Given the description of an element on the screen output the (x, y) to click on. 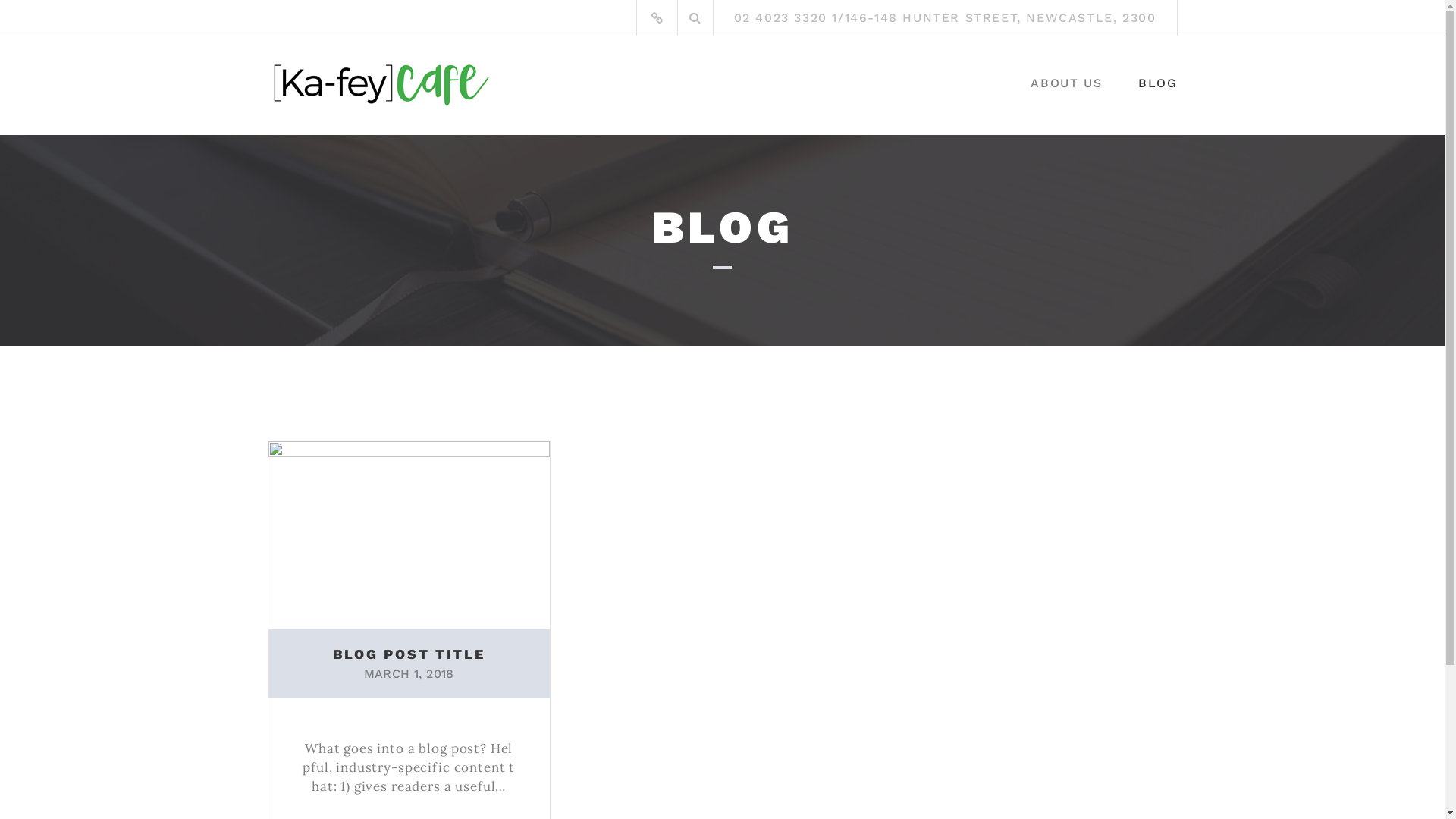
Home Element type: text (657, 18)
BLOG POST TITLE Element type: text (408, 654)
MARCH 1, 2018 Element type: text (409, 673)
Blog Post Title Element type: hover (408, 533)
BLOG Element type: text (1157, 87)
ABOUT US Element type: text (1065, 87)
